Given the description of an element on the screen output the (x, y) to click on. 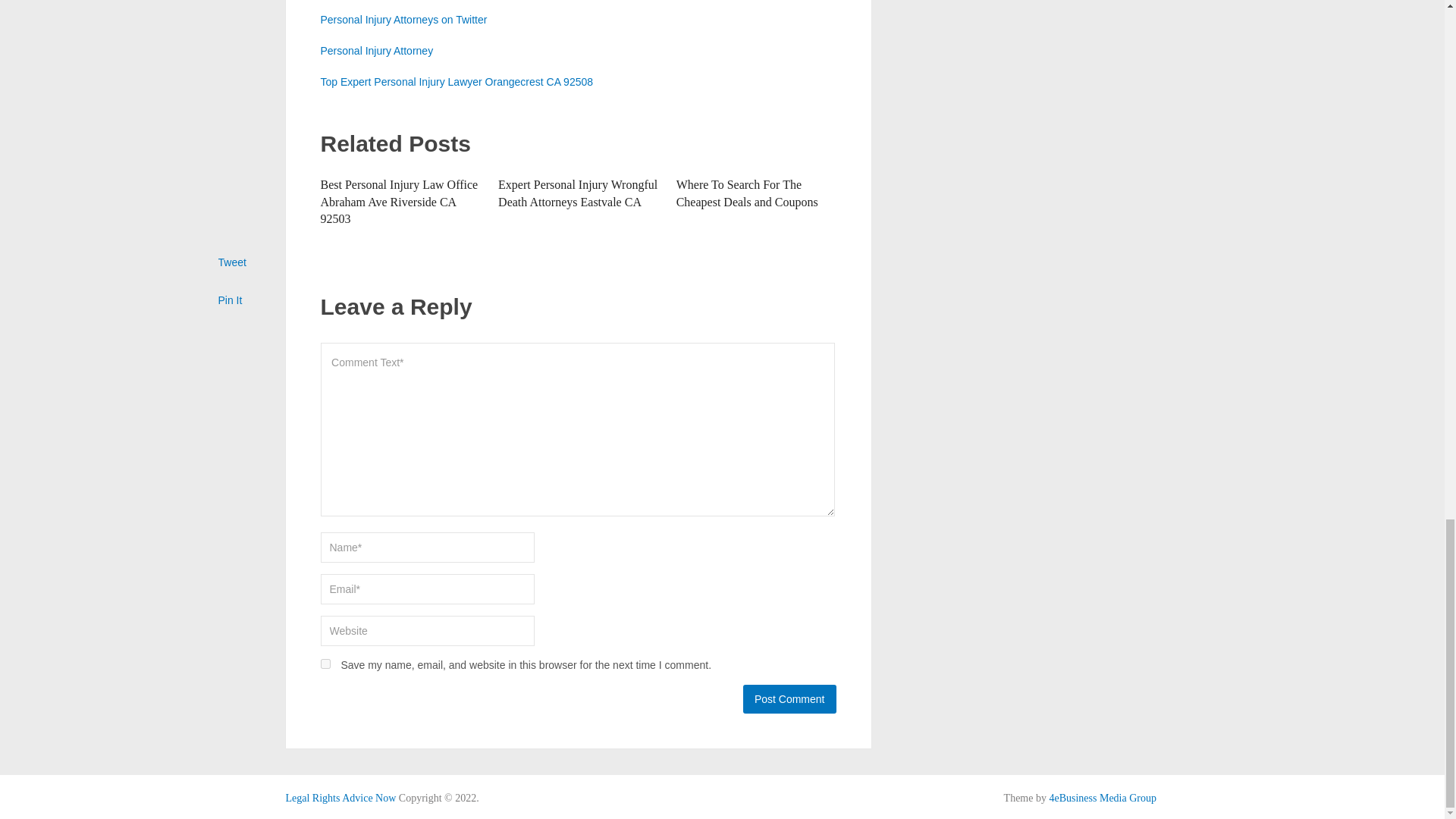
Personal Injury Attorneys on Twitter (403, 19)
Where To Search For The Cheapest Deals and Coupons (747, 193)
 Legal Rights Advice Now (340, 797)
Expert Personal Injury Wrongful Death Attorneys Eastvale CA (577, 193)
Personal Injury Attorney (376, 50)
Where To Search For The Cheapest Deals and Coupons (747, 193)
Post Comment (788, 698)
yes (325, 664)
Post Comment (788, 698)
Top Expert Personal Injury Lawyer Orangecrest CA 92508 (456, 81)
Expert Personal Injury Wrongful Death Attorneys Eastvale CA (577, 193)
